Given the description of an element on the screen output the (x, y) to click on. 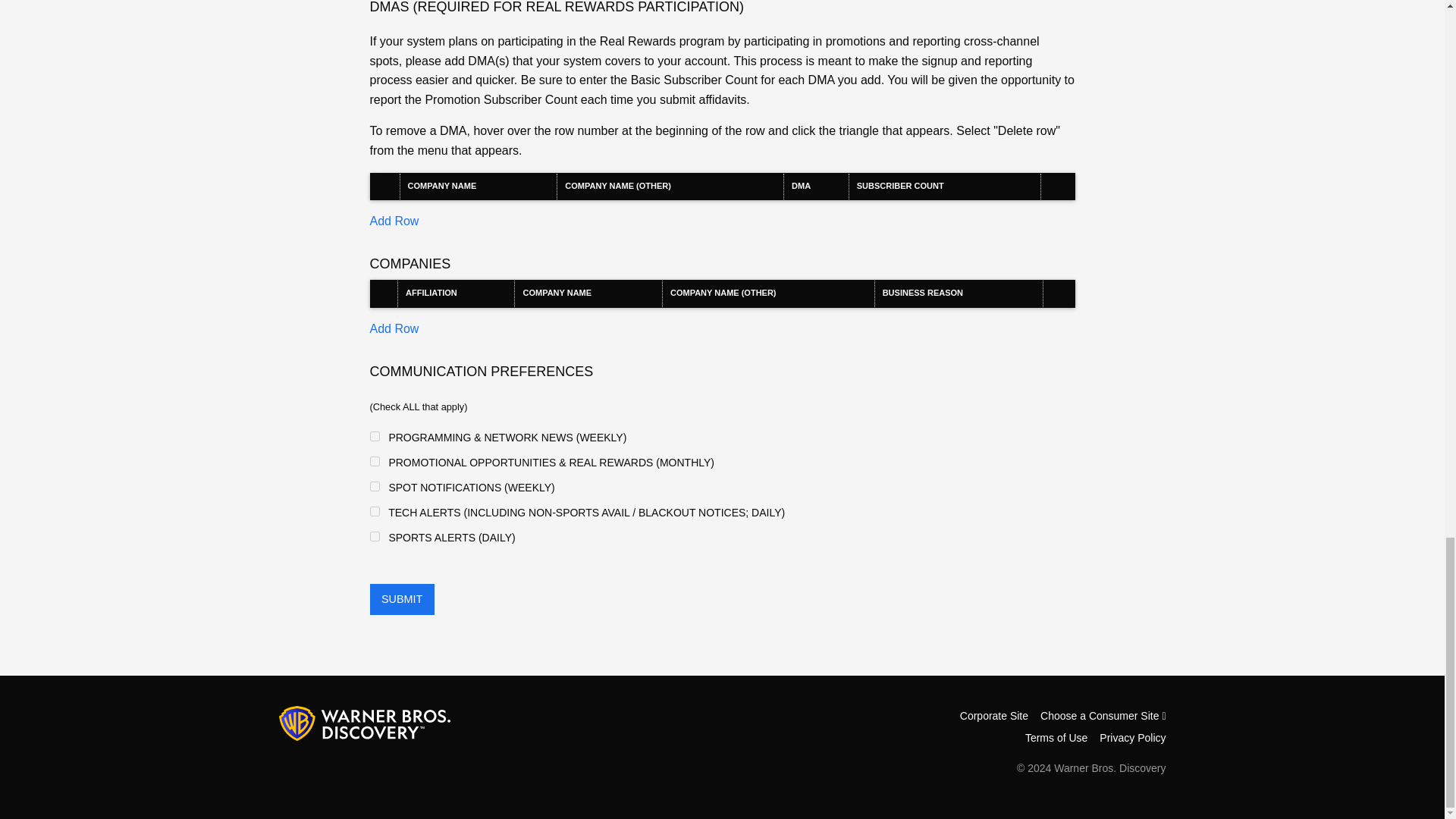
Add Row (394, 328)
Corporate Site (993, 715)
SUBMIT (401, 599)
Choose a Consumer Site (1103, 715)
Spot Notifications (374, 486)
Add Row (394, 220)
